Given the description of an element on the screen output the (x, y) to click on. 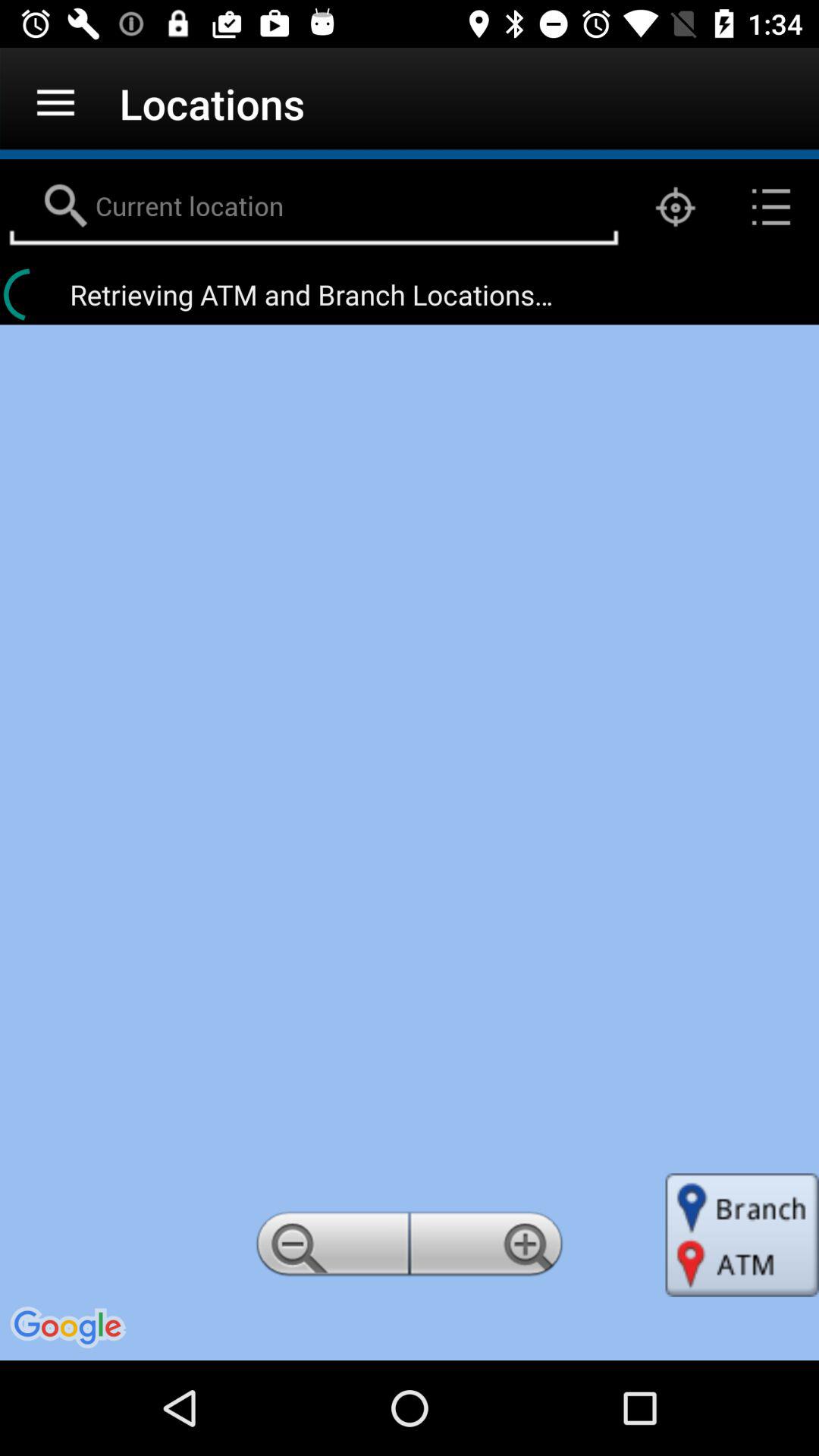
shows the add option (488, 1248)
